Given the description of an element on the screen output the (x, y) to click on. 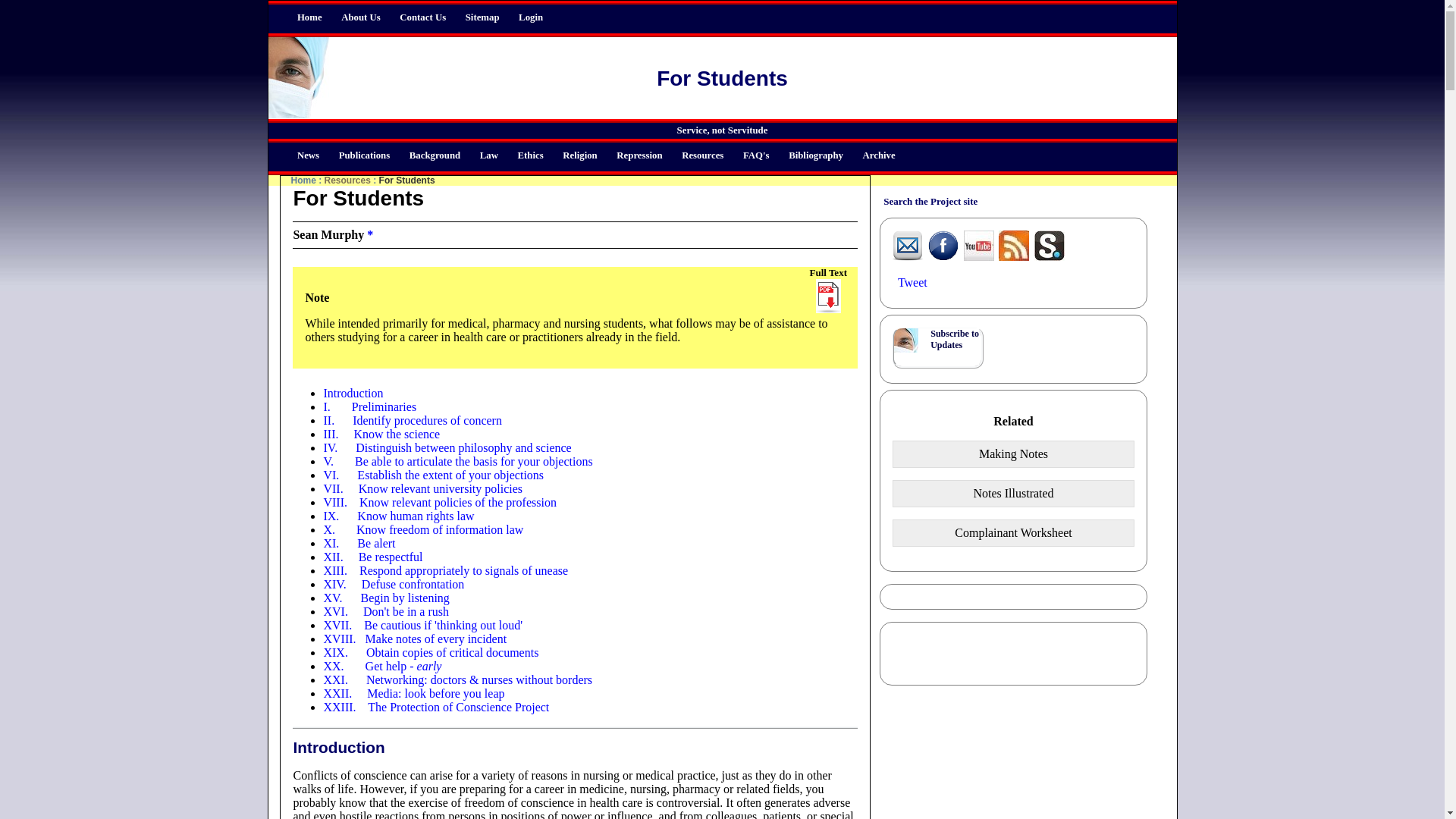
Protection of Conscience Project (303, 180)
VIII.    Know relevant policies of the profession (439, 502)
Background (434, 154)
Sitemap (482, 17)
I.       Preliminaries (369, 406)
Publications (364, 154)
Subscribe to Updates (954, 339)
Law (488, 154)
Notes Illustrated (1013, 492)
VI.      Establish the extent of your objections (433, 474)
Making Notes (1013, 453)
VII.     Know relevant university policies (422, 488)
Ethics (529, 154)
Resources (347, 180)
Tweet (912, 282)
